Given the description of an element on the screen output the (x, y) to click on. 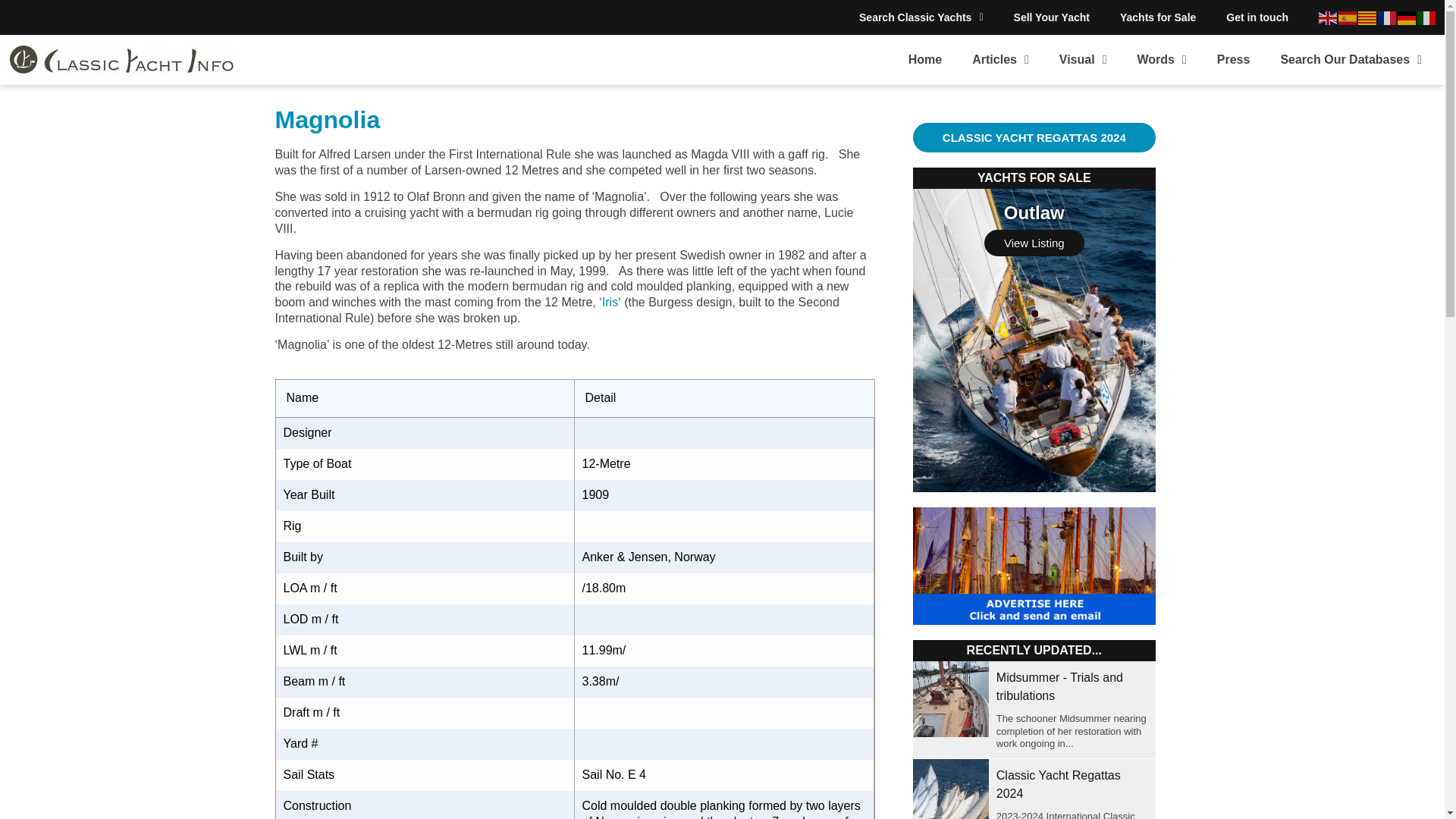
Midsummer - Trials and tribulations (950, 698)
Spanish (1348, 16)
Midsummer - Trials and tribulations (1058, 685)
Italian (1426, 16)
German (1406, 16)
Yachts for Sale (1158, 17)
French (1387, 16)
Classic Yacht Regattas 2024 (1058, 784)
iris (609, 301)
Catalan (1367, 16)
English (1328, 16)
Get in touch (1257, 17)
Sell Your Yacht (1051, 17)
Search Classic Yachts (921, 17)
Classic Yacht Regattas 2024 (950, 789)
